Given the description of an element on the screen output the (x, y) to click on. 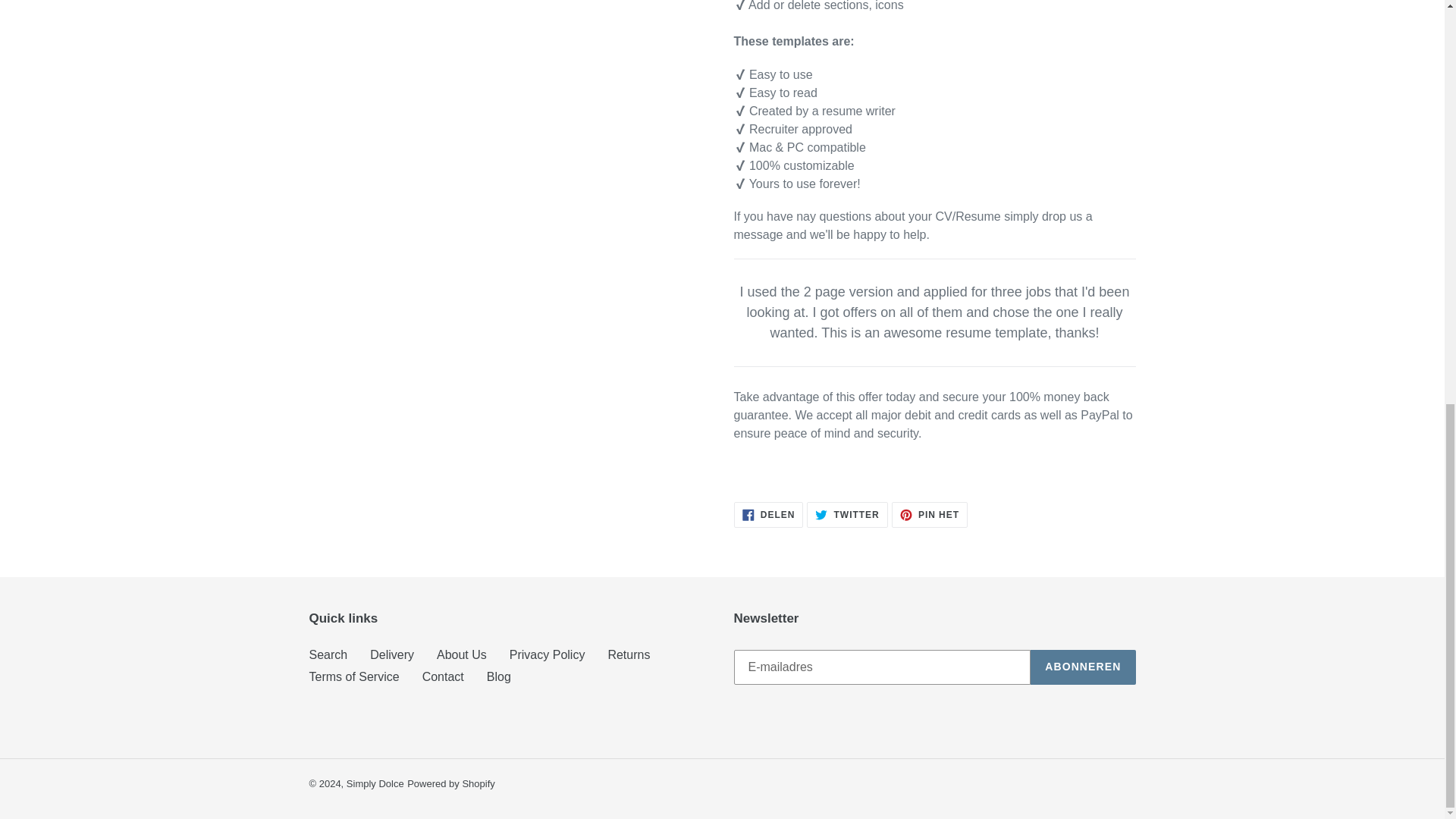
About Us (461, 654)
Search (327, 654)
Delivery (391, 654)
